Given the description of an element on the screen output the (x, y) to click on. 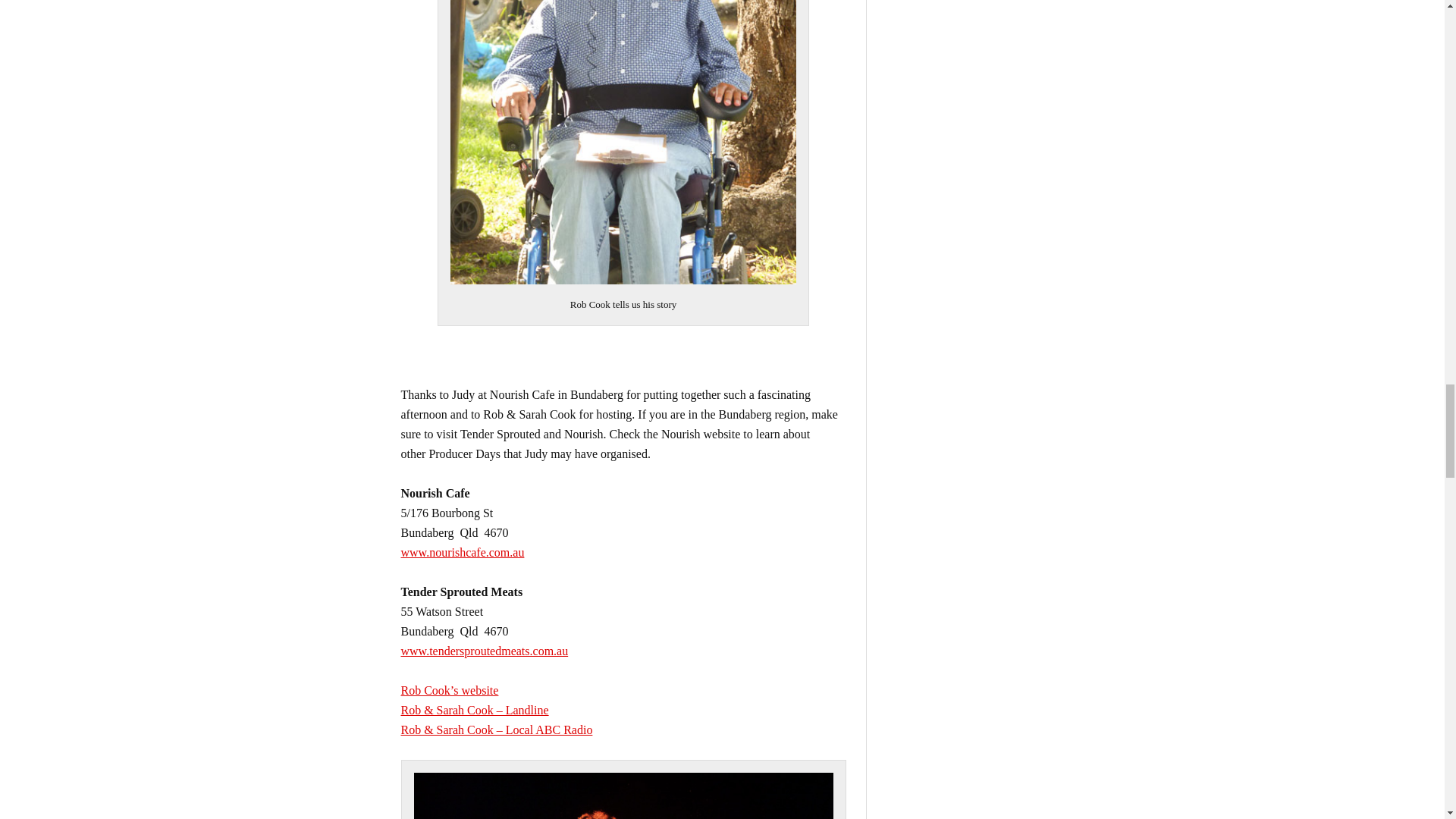
www.nourishcafe.com.au (462, 552)
www.tendersproutedmeats.com.au (483, 650)
